Given the description of an element on the screen output the (x, y) to click on. 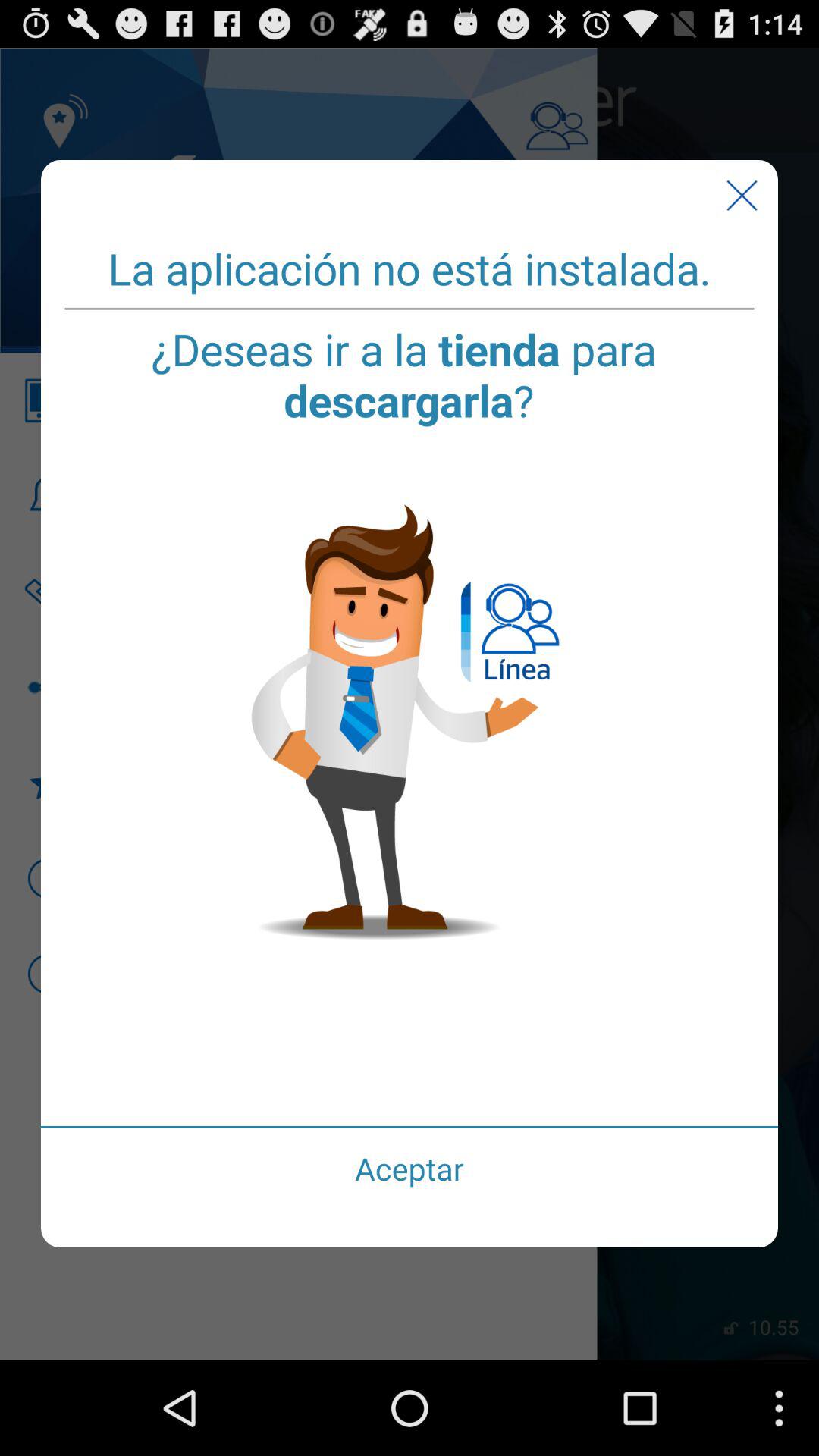
turn off the aceptar icon (409, 1168)
